Given the description of an element on the screen output the (x, y) to click on. 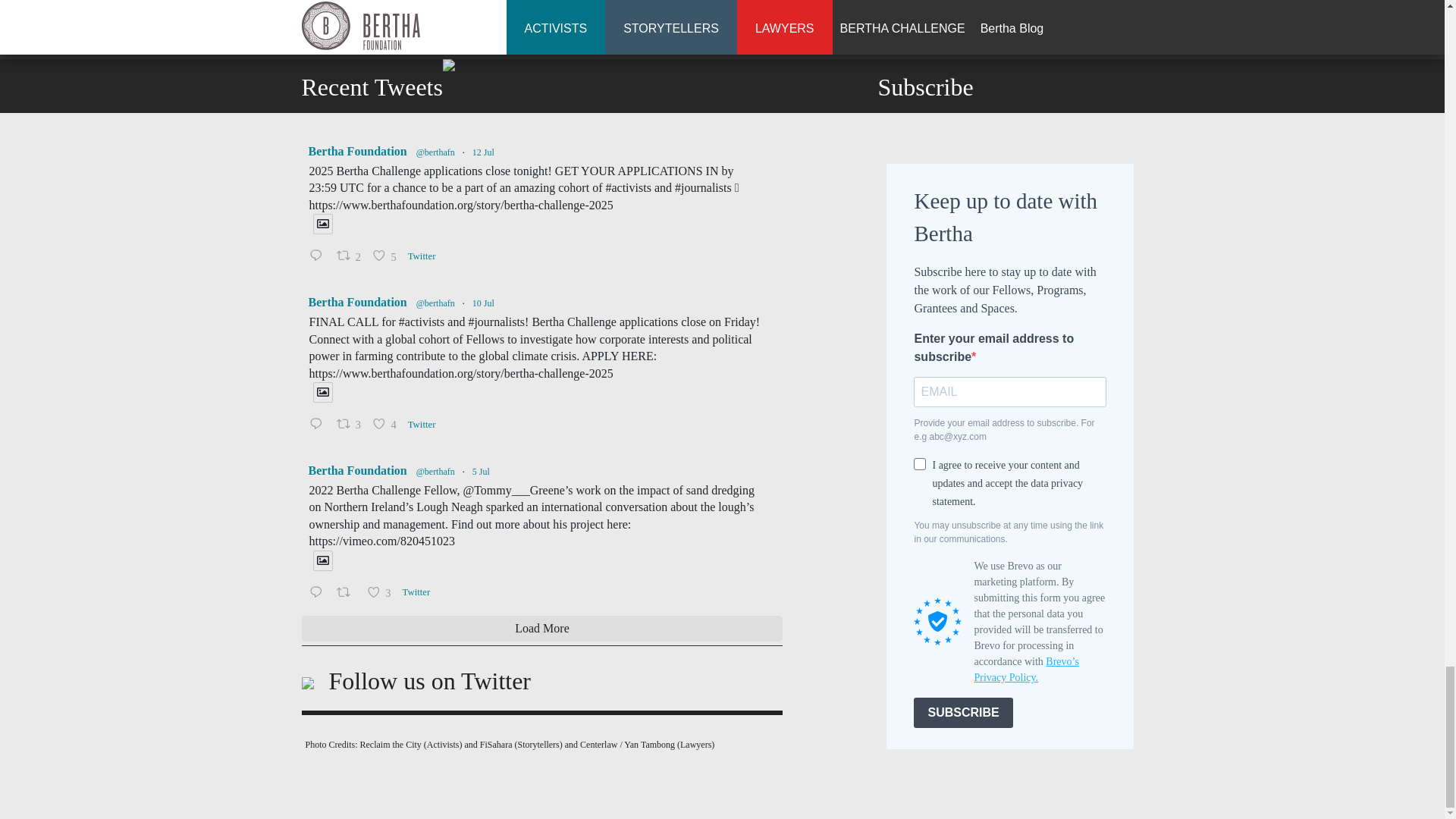
5 Jul (480, 471)
Reply on Twitter 1811667910961537377 (318, 256)
Bertha Foundation (356, 151)
Reply on Twitter 1809225723531423752 (318, 593)
Twitter 1811667910961537377 (424, 256)
Bertha Foundation (356, 302)
Reply on Twitter 1811116980893798886 (318, 424)
Bertha Foundation (356, 470)
12 Jul (483, 152)
